Given the description of an element on the screen output the (x, y) to click on. 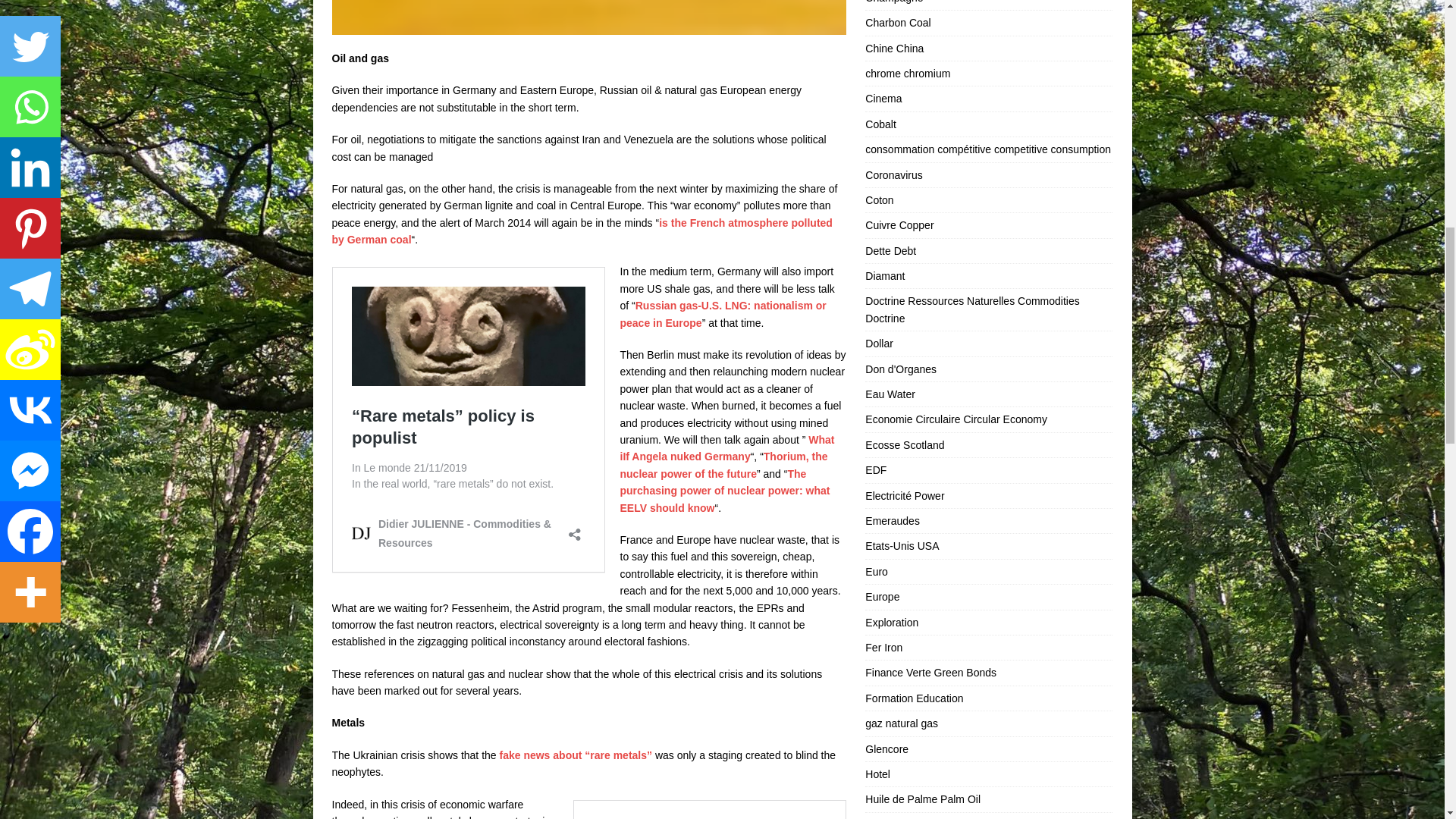
What iIf Angela nuked Germany (727, 448)
The purchasing power of nuclear power: what EELV should know (724, 490)
Capture (588, 17)
is the French atmosphere polluted by German coal (581, 231)
Thorium, the nuclear power of the future (724, 464)
Russian gas-U.S. LNG: nationalism or peace in Europe (723, 313)
